Given the description of an element on the screen output the (x, y) to click on. 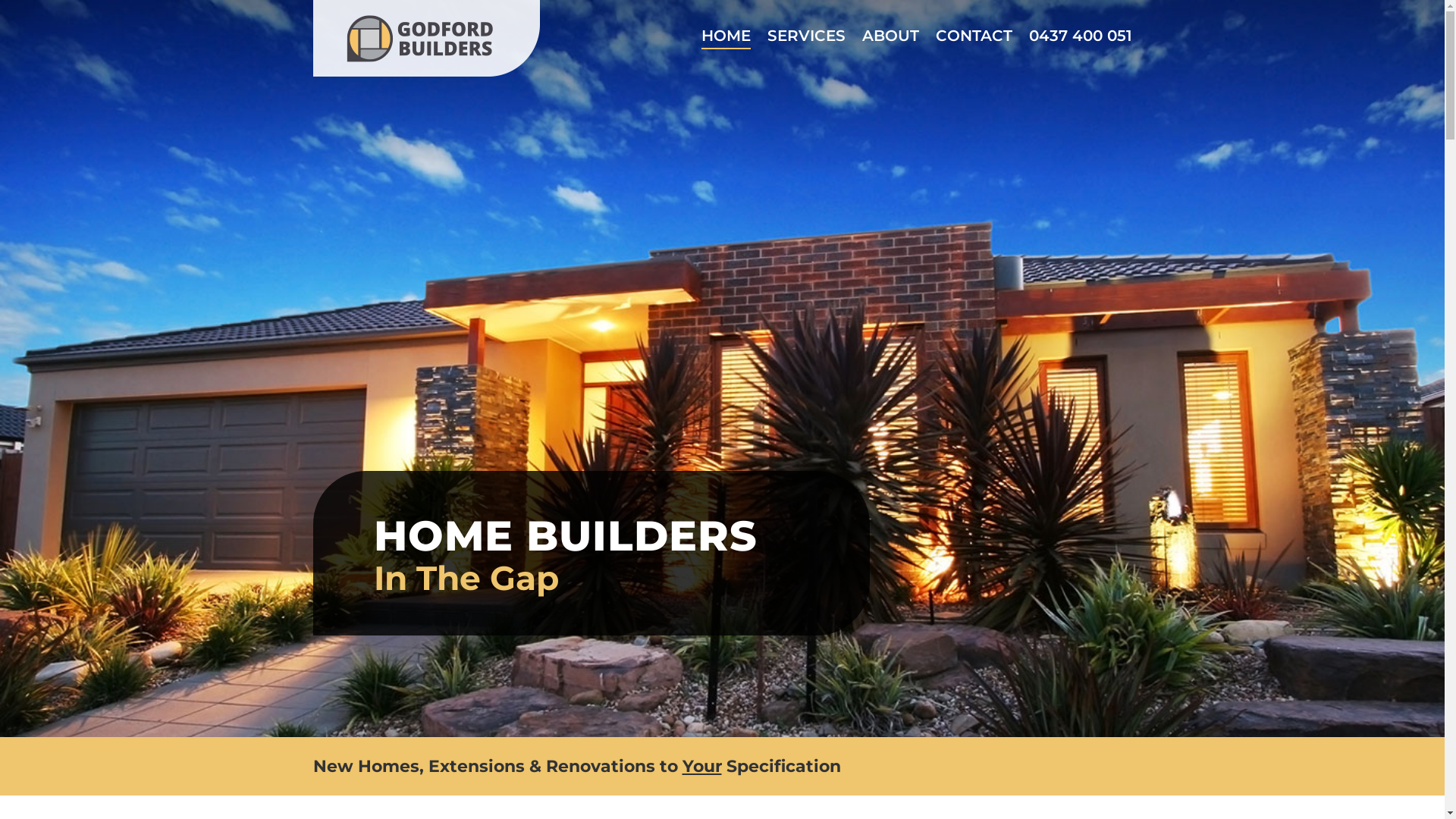
SERVICES Element type: text (806, 24)
0437 400 051 Element type: text (1079, 24)
CONTACT Element type: text (973, 24)
HOME Element type: text (724, 24)
ABOUT Element type: text (889, 24)
